Given the description of an element on the screen output the (x, y) to click on. 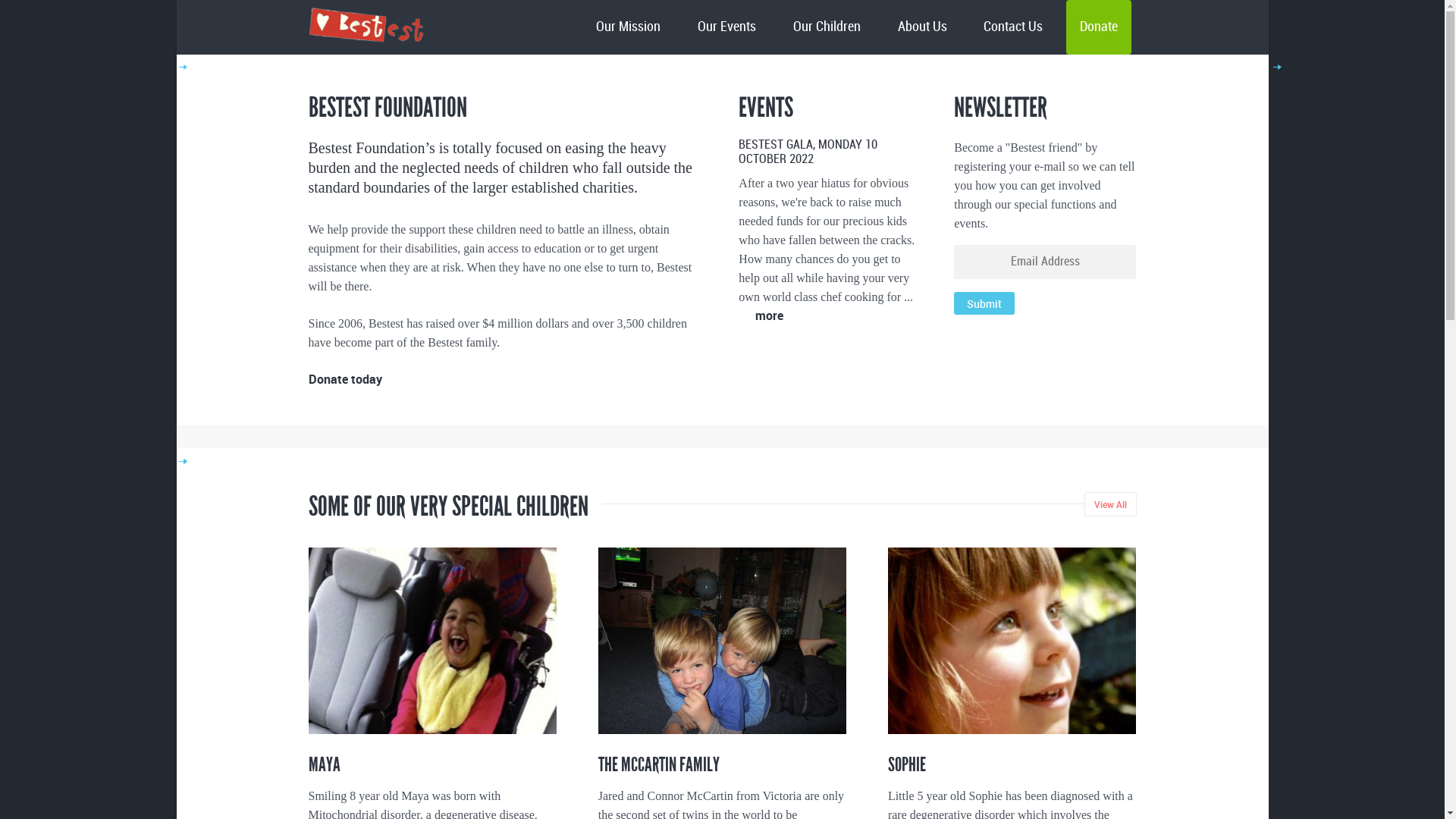
SOPHIE Element type: text (906, 764)
Contact Us Element type: text (1012, 27)
MAYA Element type: text (323, 764)
Donate Element type: text (1098, 27)
Donate today Element type: text (344, 380)
more Element type: text (760, 316)
Our Children Element type: text (826, 27)
THE MCCARTIN FAMILY Element type: text (658, 764)
Submit Element type: text (983, 302)
Our Mission Element type: text (628, 27)
BESTEST GALA, MONDAY 10 OCTOBER 2022 Element type: text (807, 152)
View All Element type: text (1110, 504)
Our Events Element type: text (726, 27)
About Us Element type: text (922, 27)
